Given the description of an element on the screen output the (x, y) to click on. 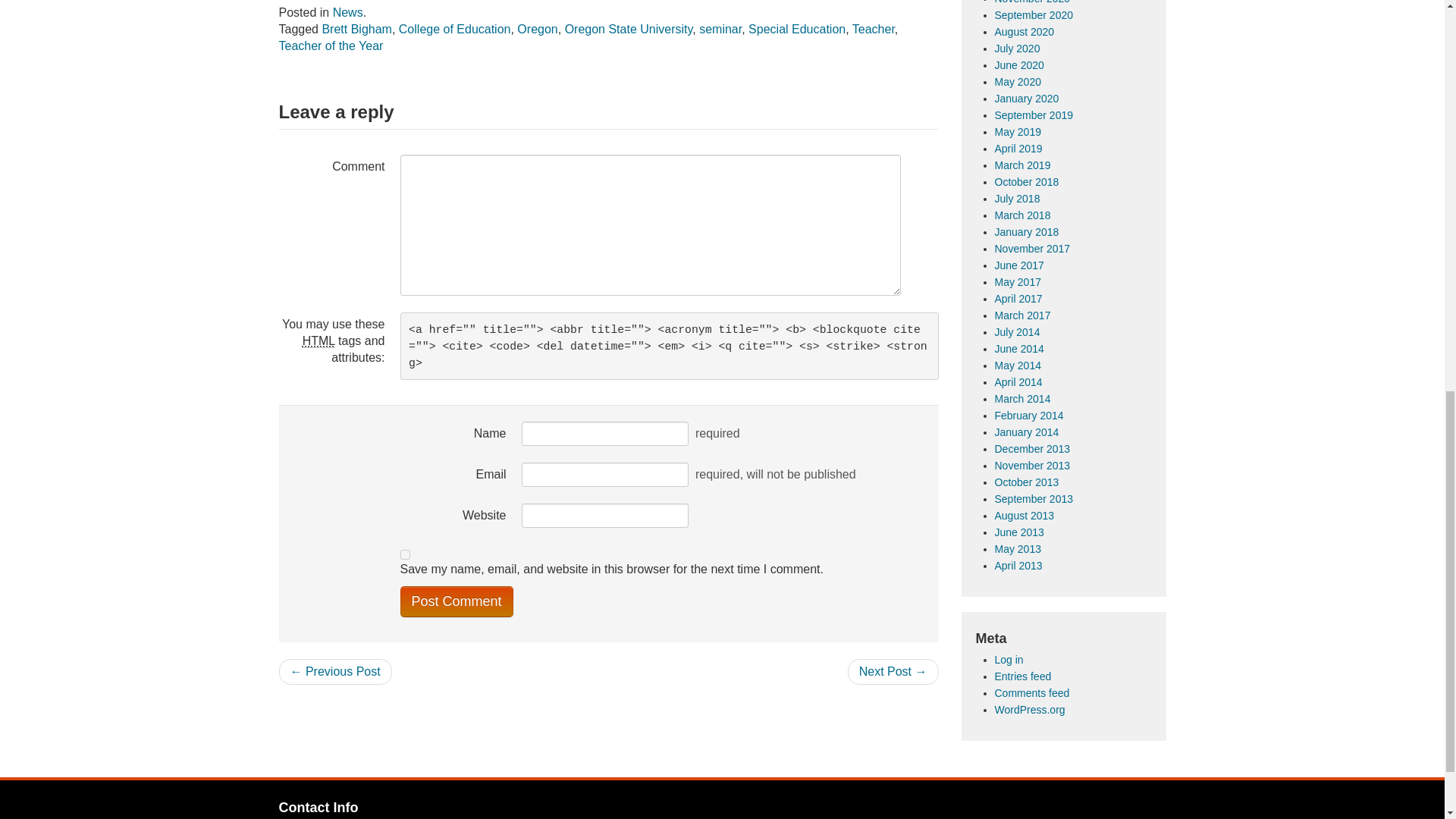
News (347, 11)
Teacher (873, 29)
Oregon (536, 29)
Post Comment (456, 601)
Post Comment (456, 601)
HyperText Markup Language (318, 341)
Special Education (796, 29)
Oregon State University (628, 29)
yes (405, 554)
Brett Bigham (356, 29)
